Given the description of an element on the screen output the (x, y) to click on. 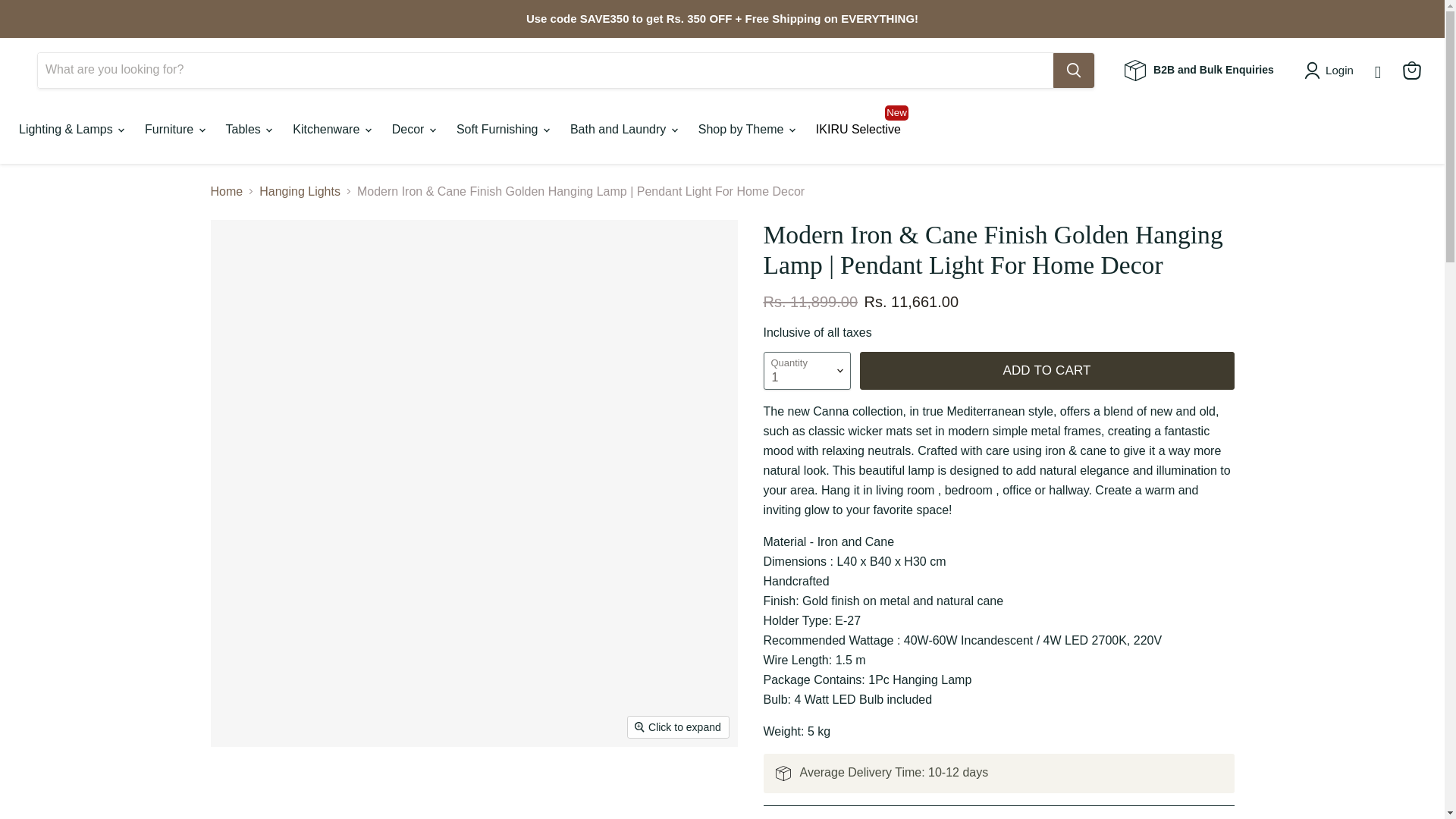
Login (1339, 70)
View cart (1411, 69)
B2B and Bulk Enquiries (1199, 69)
